Given the description of an element on the screen output the (x, y) to click on. 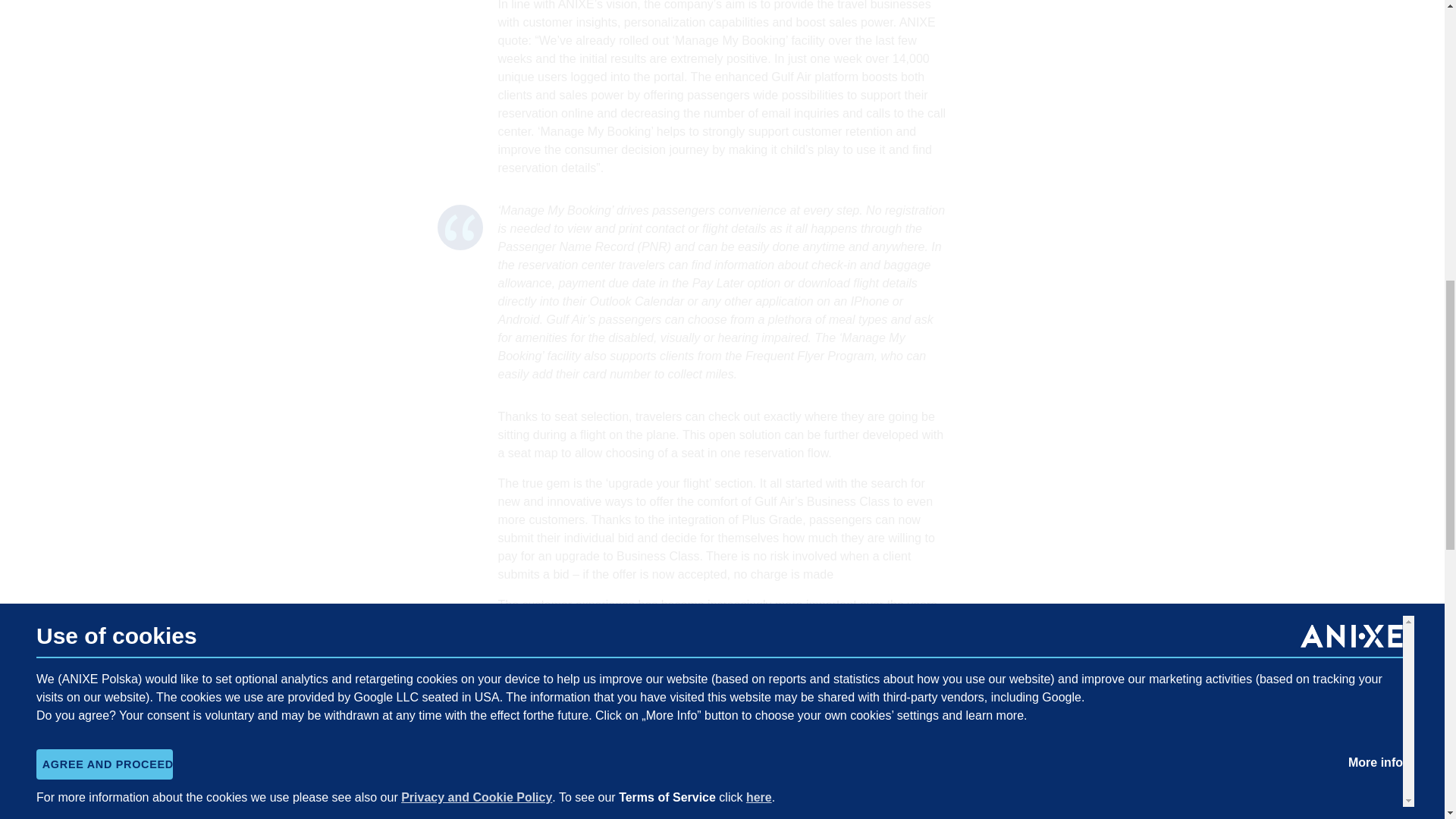
AIRLINE (567, 791)
AIRLINE INTERNET RESERVATION SYSTEM (622, 812)
RESFINITY AIR (652, 791)
NEW FEATURES (805, 812)
